Given the description of an element on the screen output the (x, y) to click on. 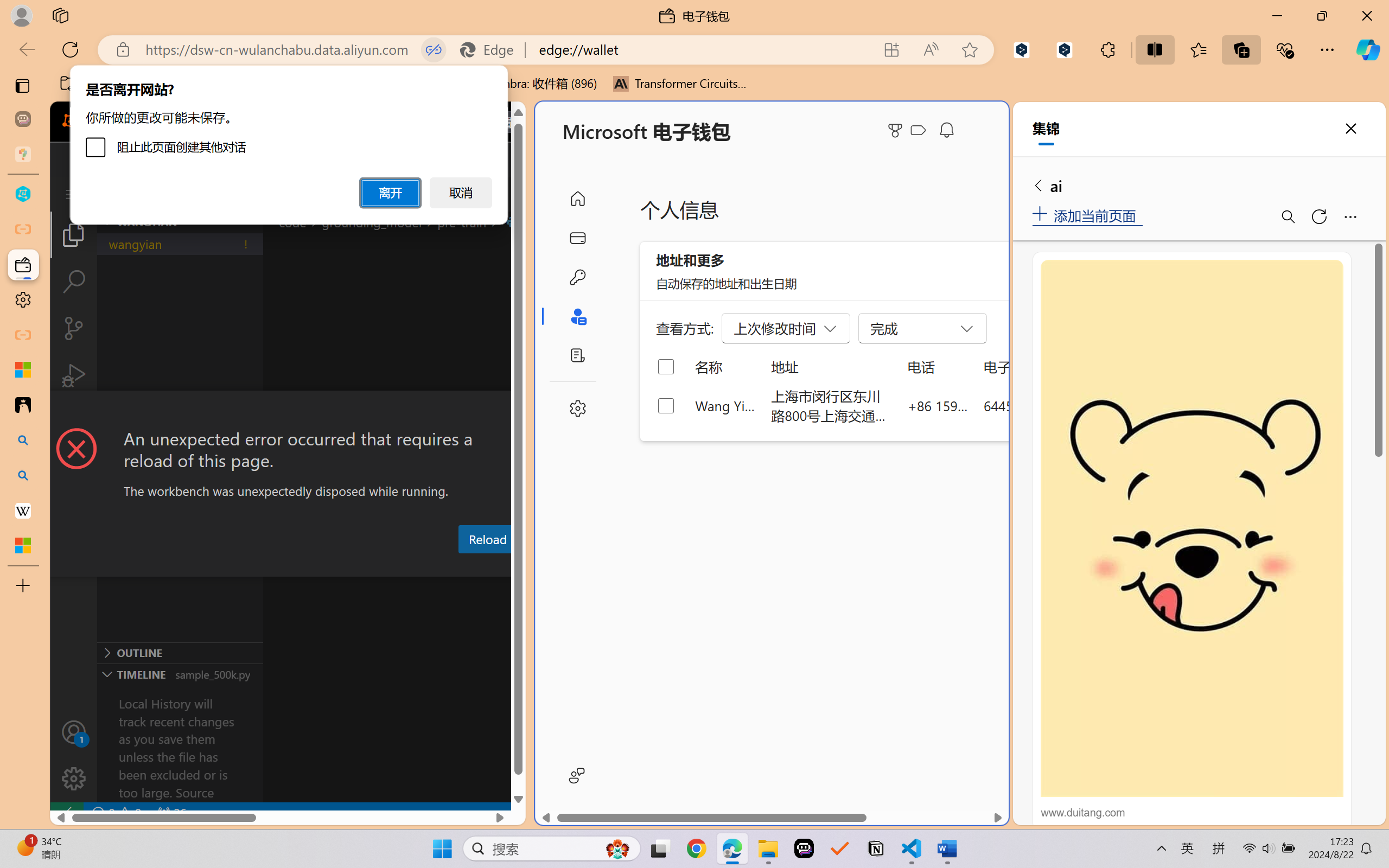
Outline Section (179, 652)
Manage (73, 778)
Google Chrome (696, 848)
Class: actions-container (287, 410)
Earth - Wikipedia (22, 510)
